Given the description of an element on the screen output the (x, y) to click on. 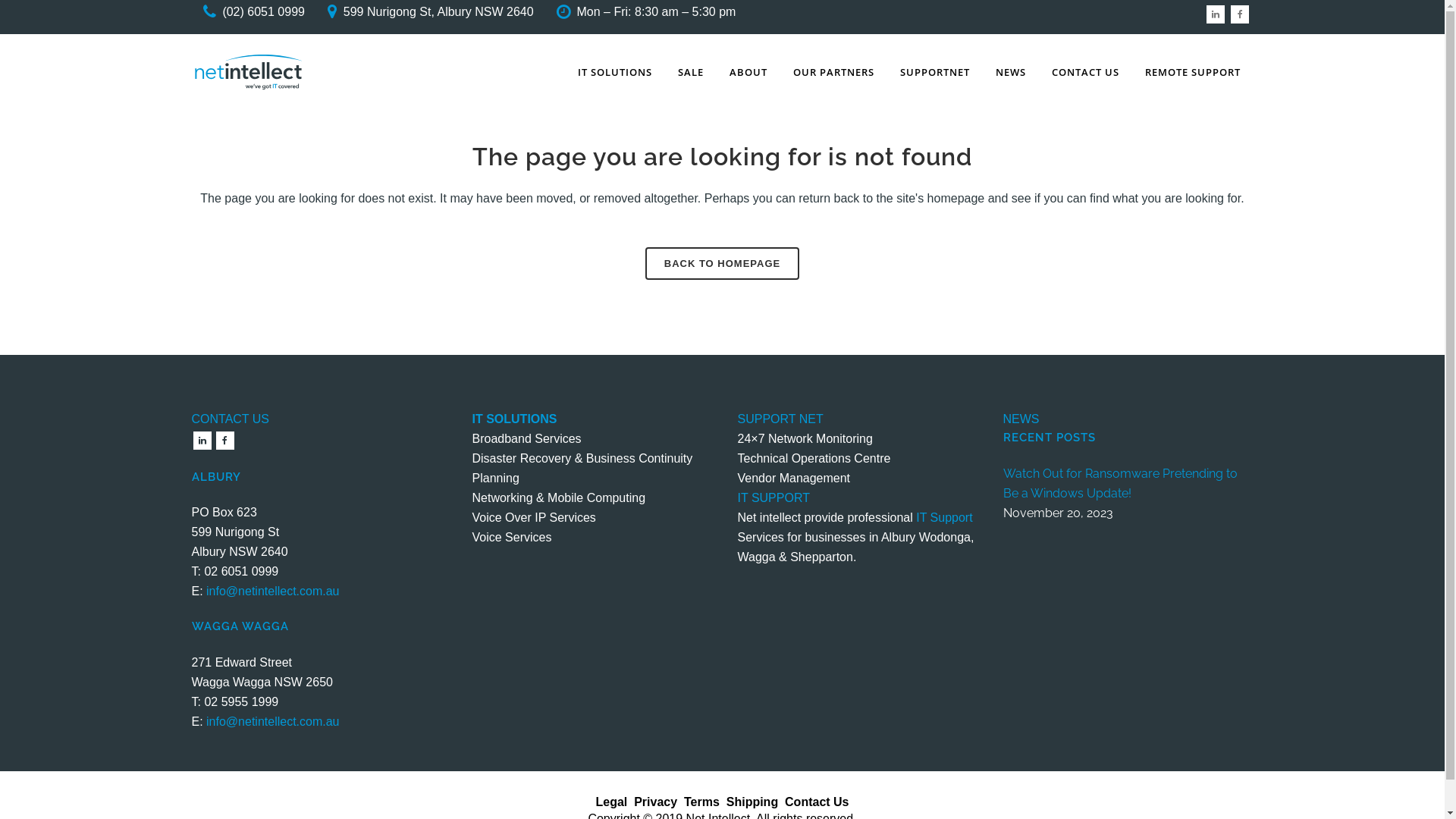
CONTACT US Element type: text (1085, 71)
REMOTE SUPPORT Element type: text (1191, 71)
Shipping Element type: text (752, 800)
NEWS Element type: text (1020, 418)
NEWS Element type: text (1010, 71)
SUPPORT NET Element type: text (779, 418)
IT Support Element type: text (944, 517)
SUPPORTNET Element type: text (934, 71)
Terms Element type: text (701, 800)
Privacy Element type: text (655, 800)
SALE Element type: text (689, 71)
Vendor Management Element type: text (793, 477)
CONTACT US Element type: text (230, 418)
Contact Us Element type: text (816, 800)
Voice Services Element type: text (511, 536)
ABOUT Element type: text (747, 71)
IT SOLUTIONS Element type: text (513, 418)
OUR PARTNERS Element type: text (832, 71)
info@netintellect.com.au Element type: text (272, 721)
Watch Out for Ransomware Pretending to Be a Windows Update! Element type: text (1127, 483)
Legal Element type: text (611, 800)
Disaster Recovery & Business Continuity Planning Element type: text (581, 467)
IT SOLUTIONS Element type: text (614, 71)
Broadband Services Element type: text (525, 438)
IT SUPPORT Element type: text (773, 497)
Voice Over IP Services Element type: text (533, 517)
BACK TO HOMEPAGE Element type: text (722, 263)
Technical Operations Centre Element type: text (813, 457)
Networking & Mobile Computing Element type: text (558, 497)
info@netintellect.com.au Element type: text (272, 590)
